Given the description of an element on the screen output the (x, y) to click on. 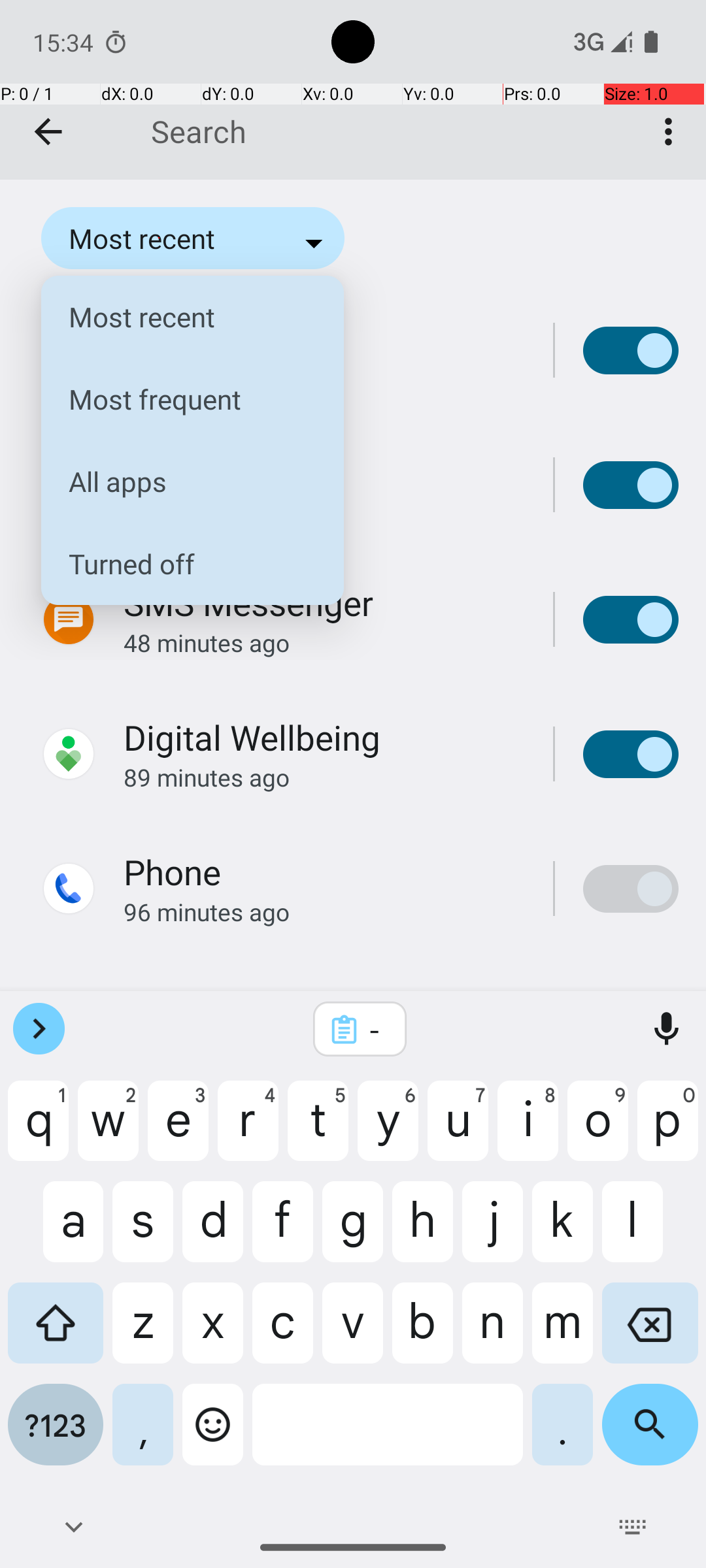
Most frequent Element type: android.widget.TextView (182, 399)
All apps Element type: android.widget.TextView (182, 481)
Turned off Element type: android.widget.TextView (182, 563)
